Given the description of an element on the screen output the (x, y) to click on. 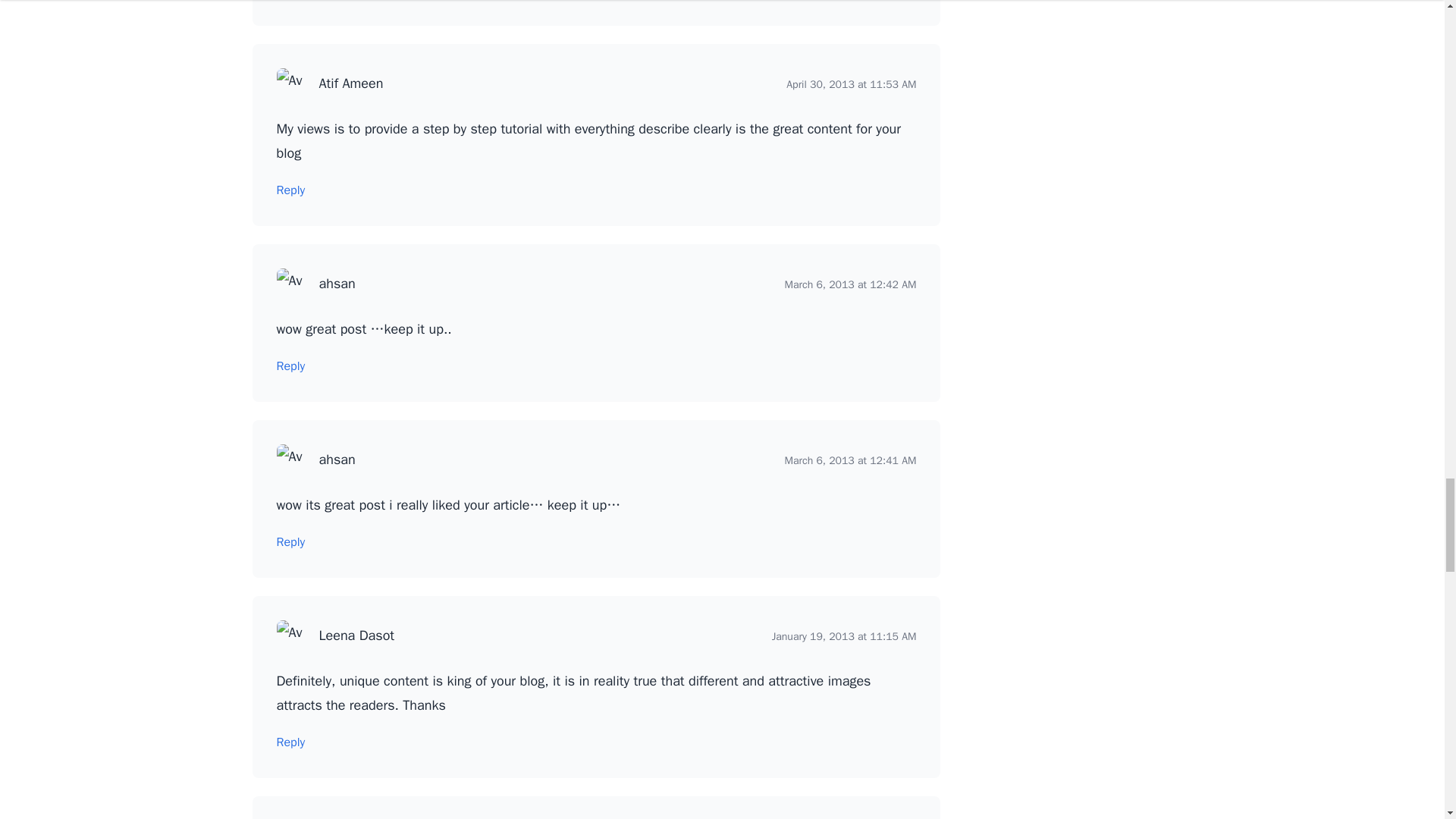
Gravatar for ahsan (290, 283)
Gravatar for Atif Ameen (290, 82)
Gravatar for Leena Dasot (290, 634)
Gravatar for ahsan (290, 459)
